Given the description of an element on the screen output the (x, y) to click on. 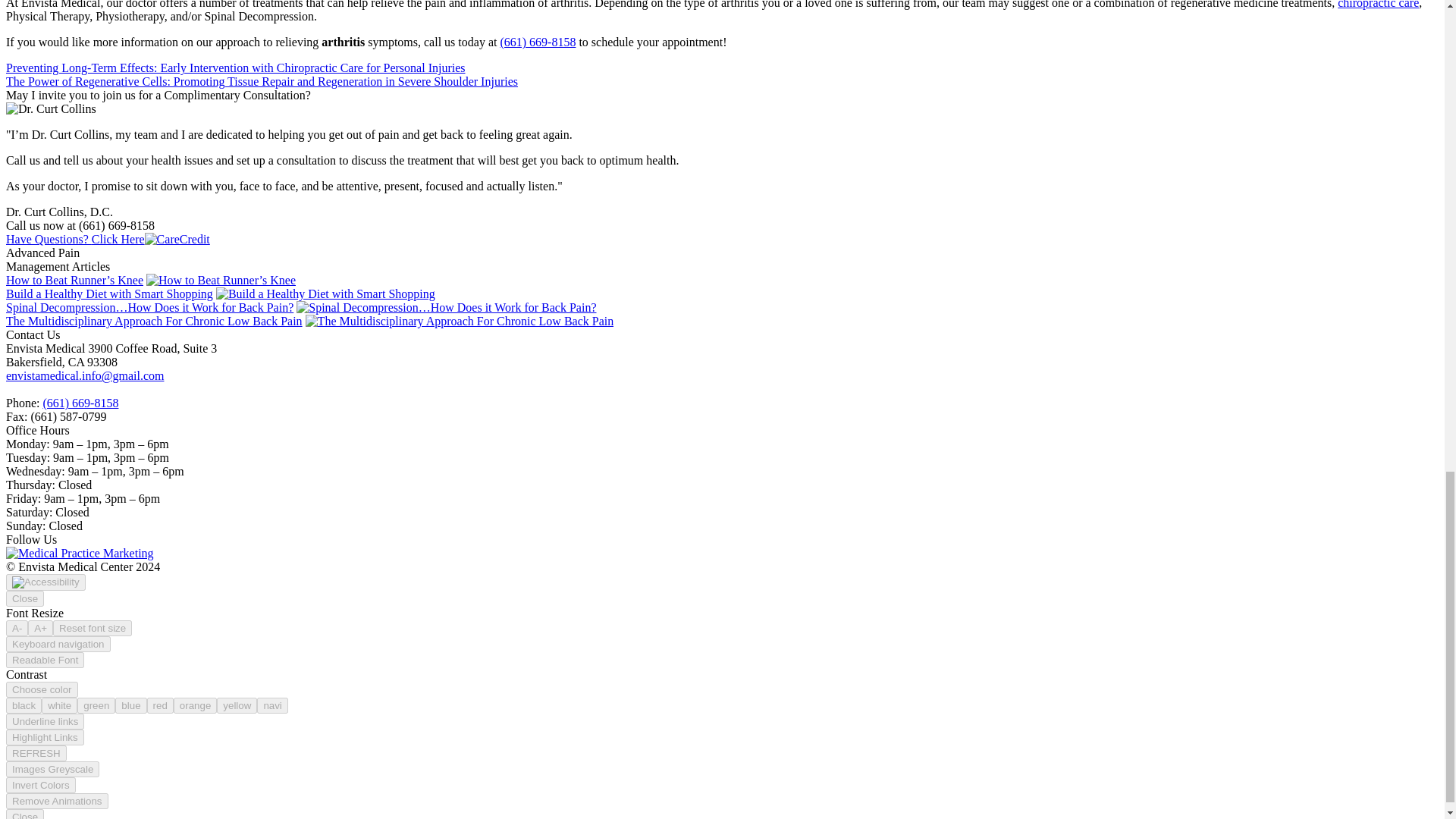
white (59, 705)
Contrast (41, 689)
Close (24, 598)
Reset font size (92, 627)
black (23, 705)
Readable Font (44, 659)
The Multidisciplinary Approach For Chronic Low Back Pain (459, 320)
Medical Practice Marketing (79, 553)
Build a Healthy Diet with Smart Shopping (325, 293)
Keyboard navigation (57, 643)
smaller font size (16, 627)
Accessibility Helper sidebar (45, 582)
larger font size (39, 627)
